Given the description of an element on the screen output the (x, y) to click on. 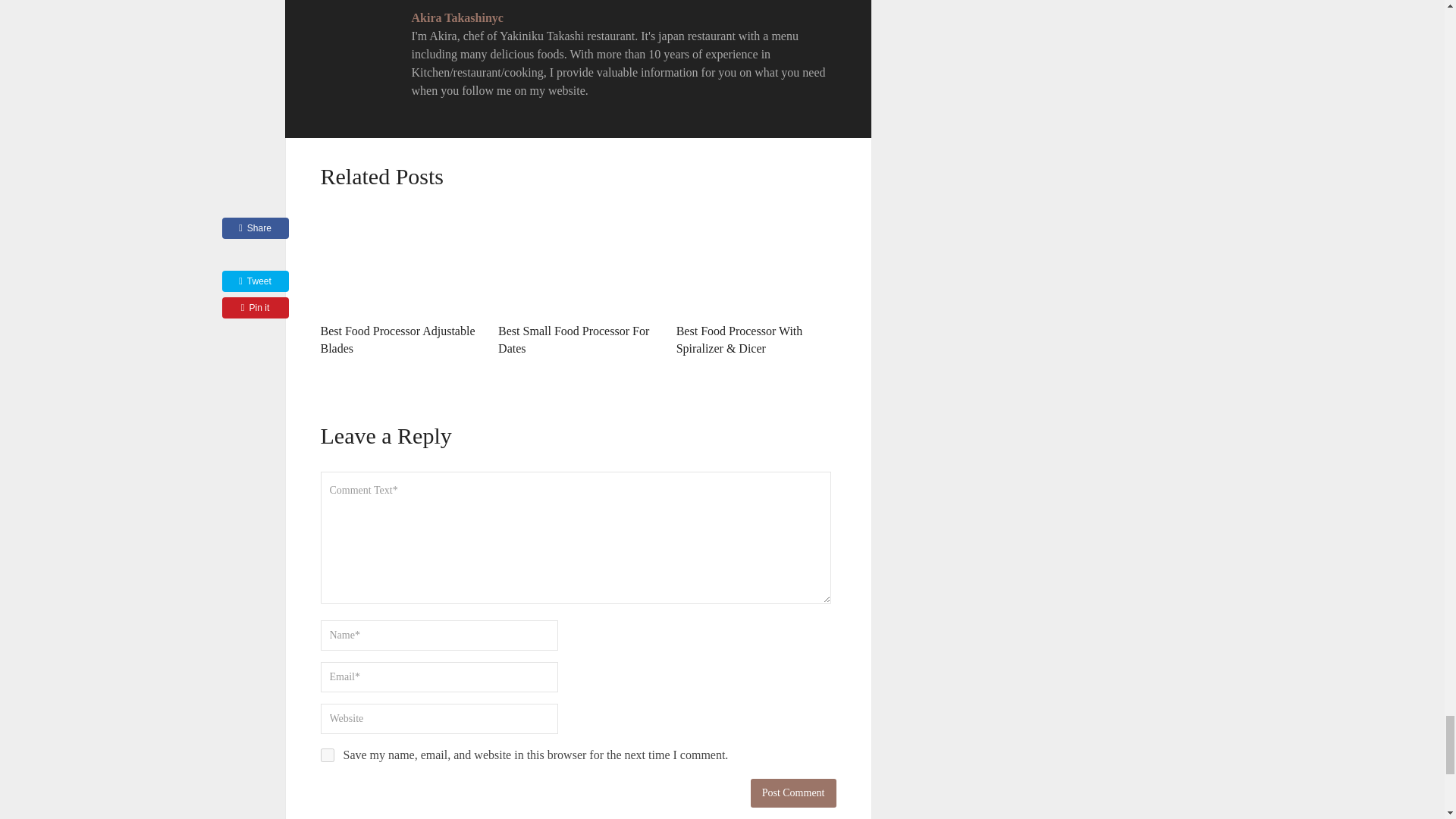
yes (326, 755)
Post Comment (793, 792)
